Given the description of an element on the screen output the (x, y) to click on. 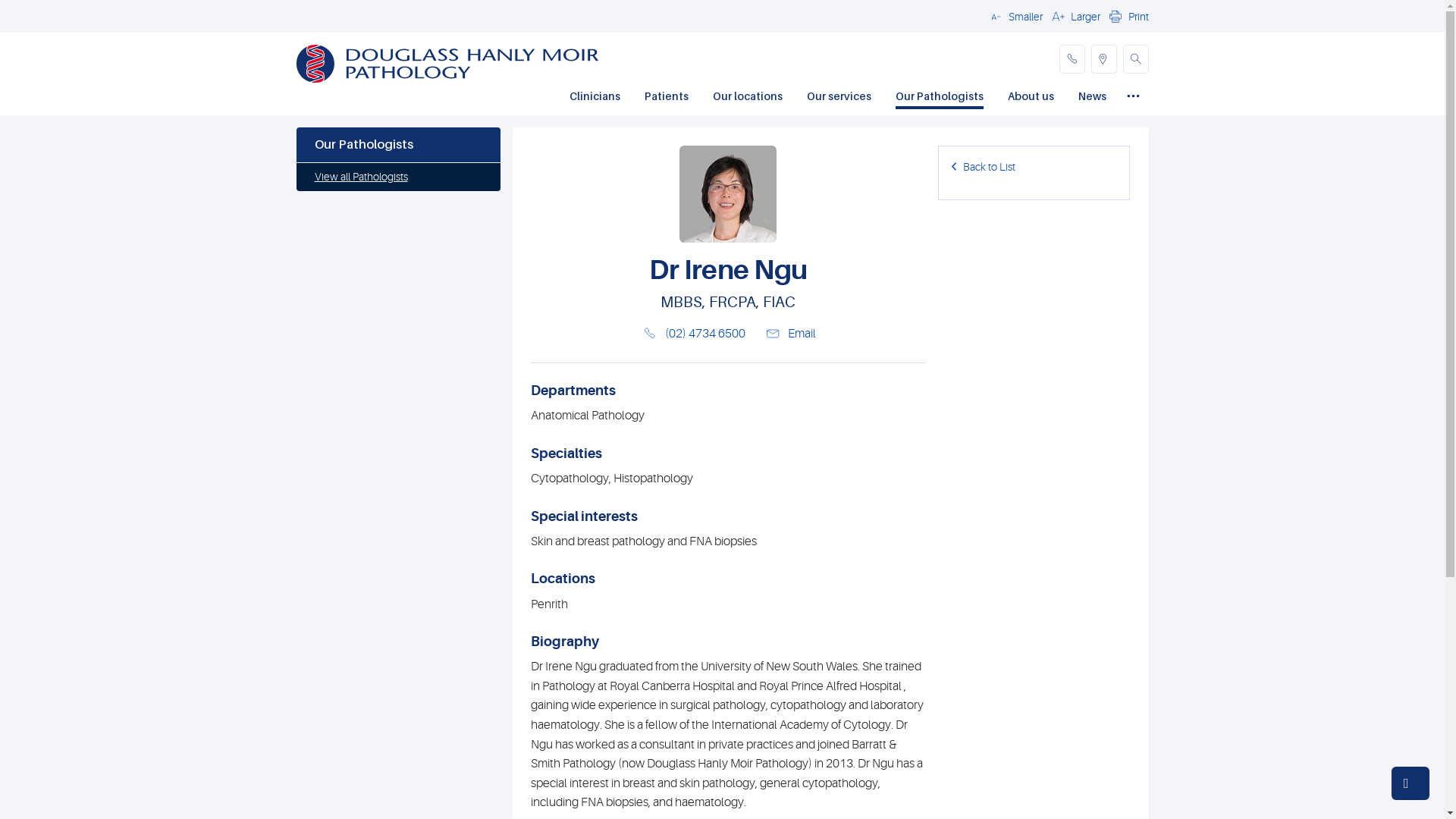
Clinicians Element type: text (593, 97)
Our services Element type: text (838, 97)
Our Pathologists Element type: text (938, 97)
News Element type: text (1092, 97)
Our locations Element type: text (747, 97)
Print Element type: text (1126, 15)
Email Element type: text (789, 334)
Larger Element type: text (1073, 15)
location Element type: hover (1103, 58)
Patients Element type: text (666, 97)
Back to List Element type: text (982, 166)
phone Element type: hover (1071, 58)
About us Element type: text (1030, 97)
(02) 4734 6500 Element type: text (705, 333)
Our Pathologists Element type: text (397, 144)
Smaller Element type: text (1013, 15)
View all Pathologists Element type: text (397, 177)
